Given the description of an element on the screen output the (x, y) to click on. 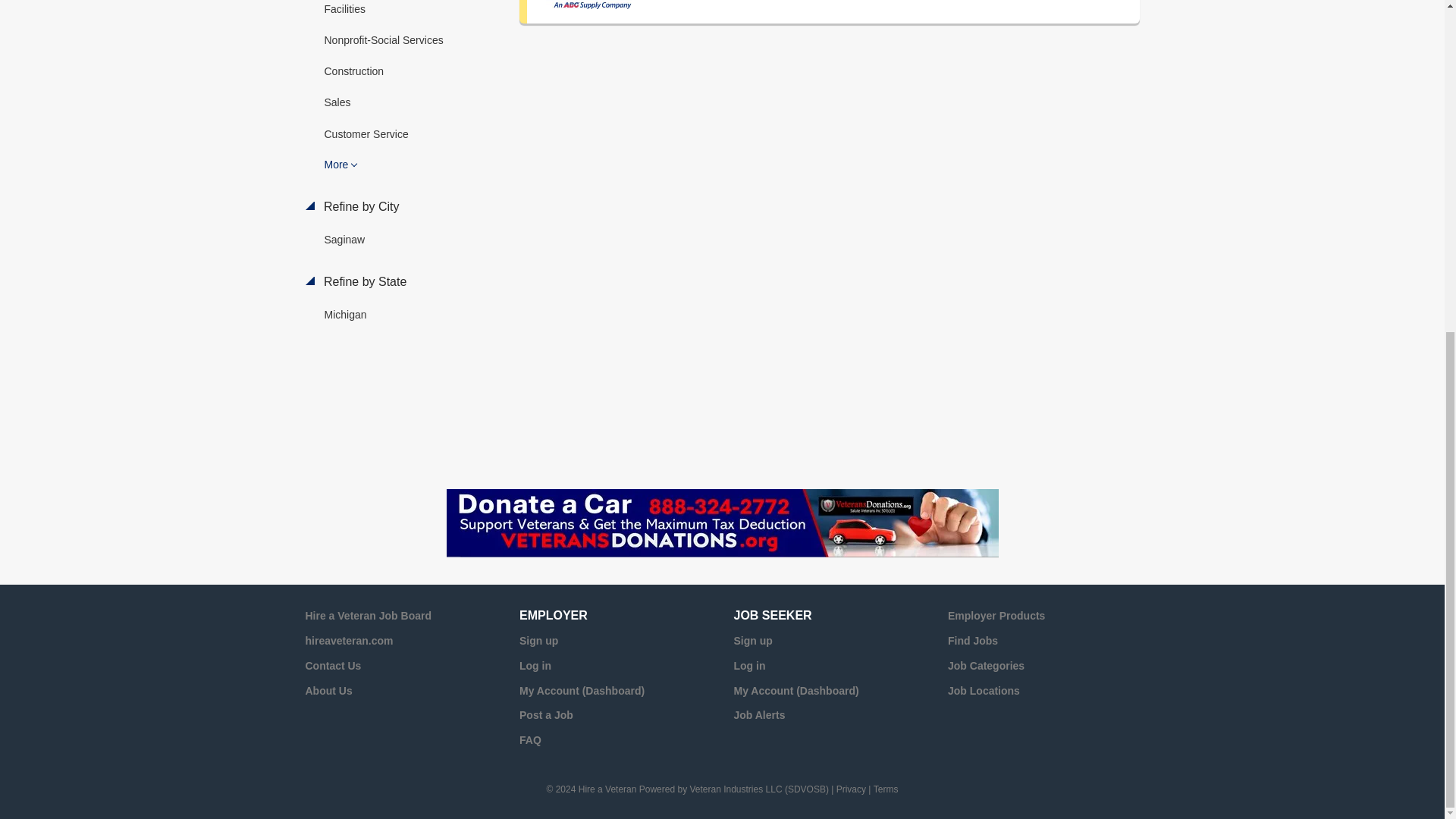
Donate Your Car - VeteransDonations.org (721, 522)
